Given the description of an element on the screen output the (x, y) to click on. 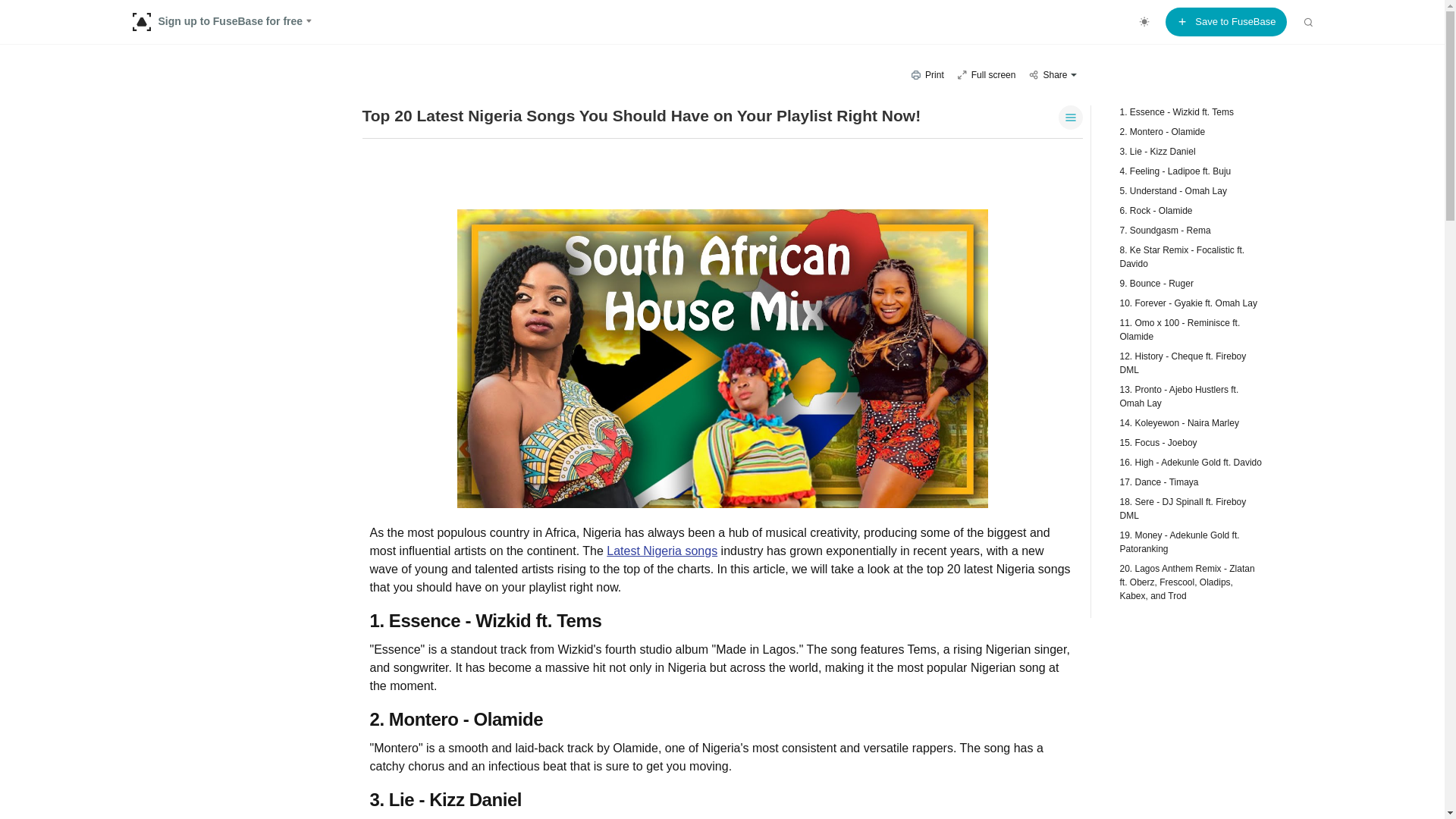
12. History - Cheque ft. Fireboy DML (1183, 361)
14. Koleyewon - Naira Marley (1183, 422)
Share (1051, 74)
19. Money - Adekunle Gold ft. Patoranking (1183, 541)
8. Ke Star Remix - Focalistic ft. Davido (1183, 256)
Switch to dark theme (1144, 21)
Sign up to FuseBase for free (226, 21)
6. Rock - Olamide (1183, 210)
15. Focus - Joeboy (1183, 441)
9. Bounce - Ruger (1183, 282)
10. Forever - Gyakie ft. Omah Lay (1183, 302)
17. Dance - Timaya (1183, 481)
4. Feeling - Ladipoe ft. Buju (1183, 170)
Hide table of contents (1070, 116)
16. High - Adekunle Gold ft. Davido (1183, 461)
